Given the description of an element on the screen output the (x, y) to click on. 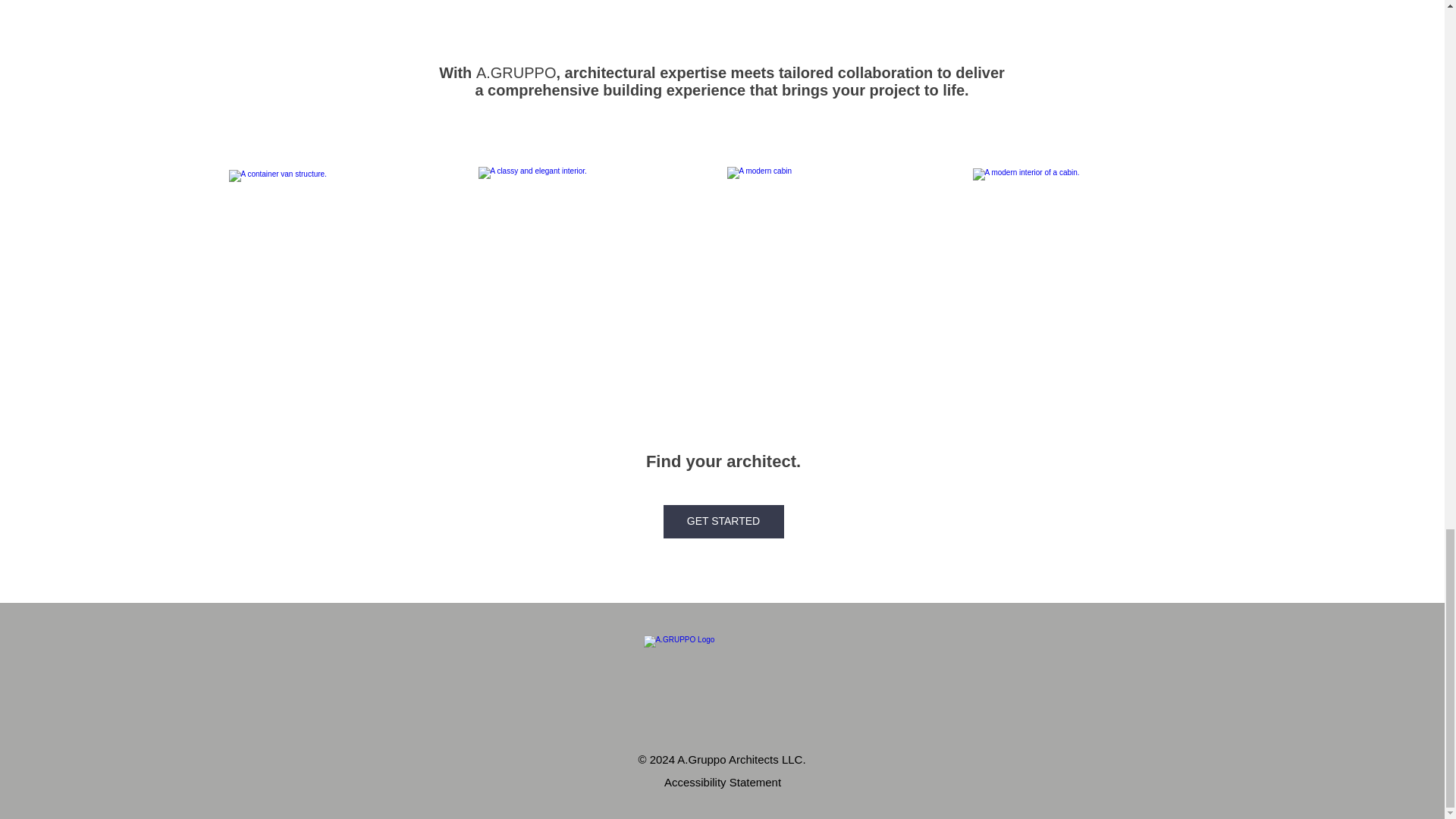
logo.png (721, 655)
